Given the description of an element on the screen output the (x, y) to click on. 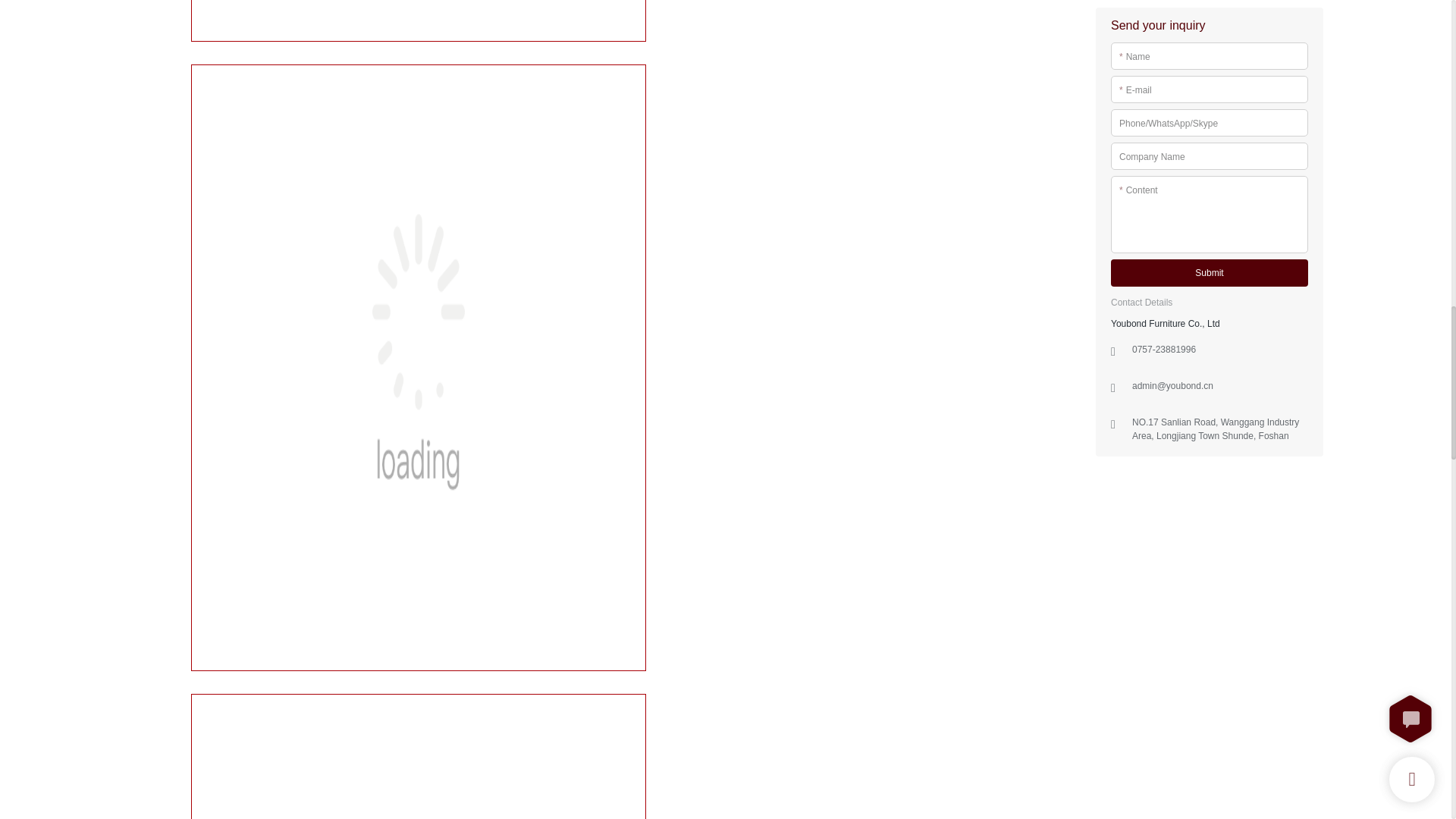
undefined (418, 20)
undefined (418, 756)
